Given the description of an element on the screen output the (x, y) to click on. 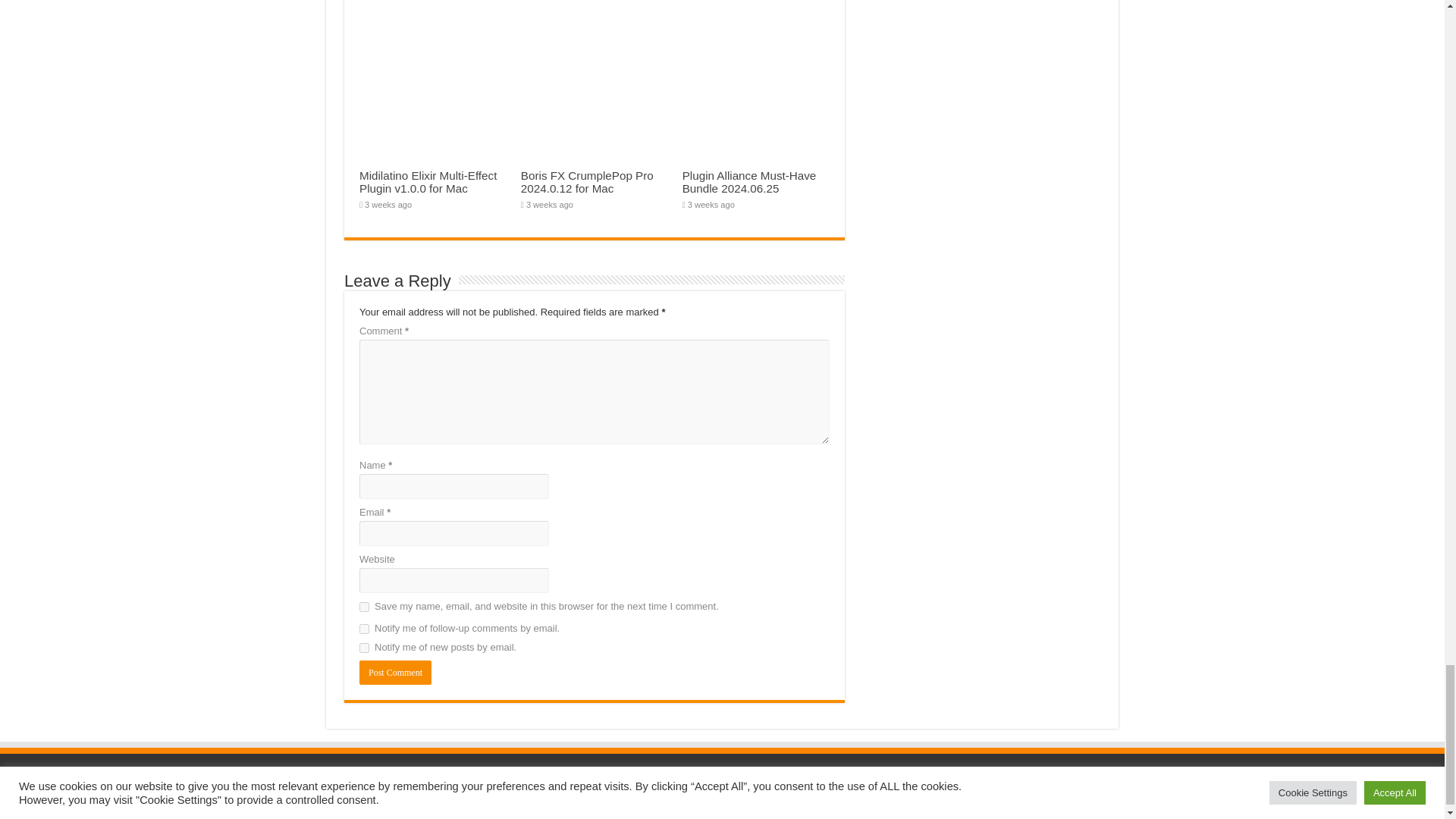
subscribe (364, 647)
subscribe (364, 628)
Post Comment (394, 672)
yes (364, 606)
